Given the description of an element on the screen output the (x, y) to click on. 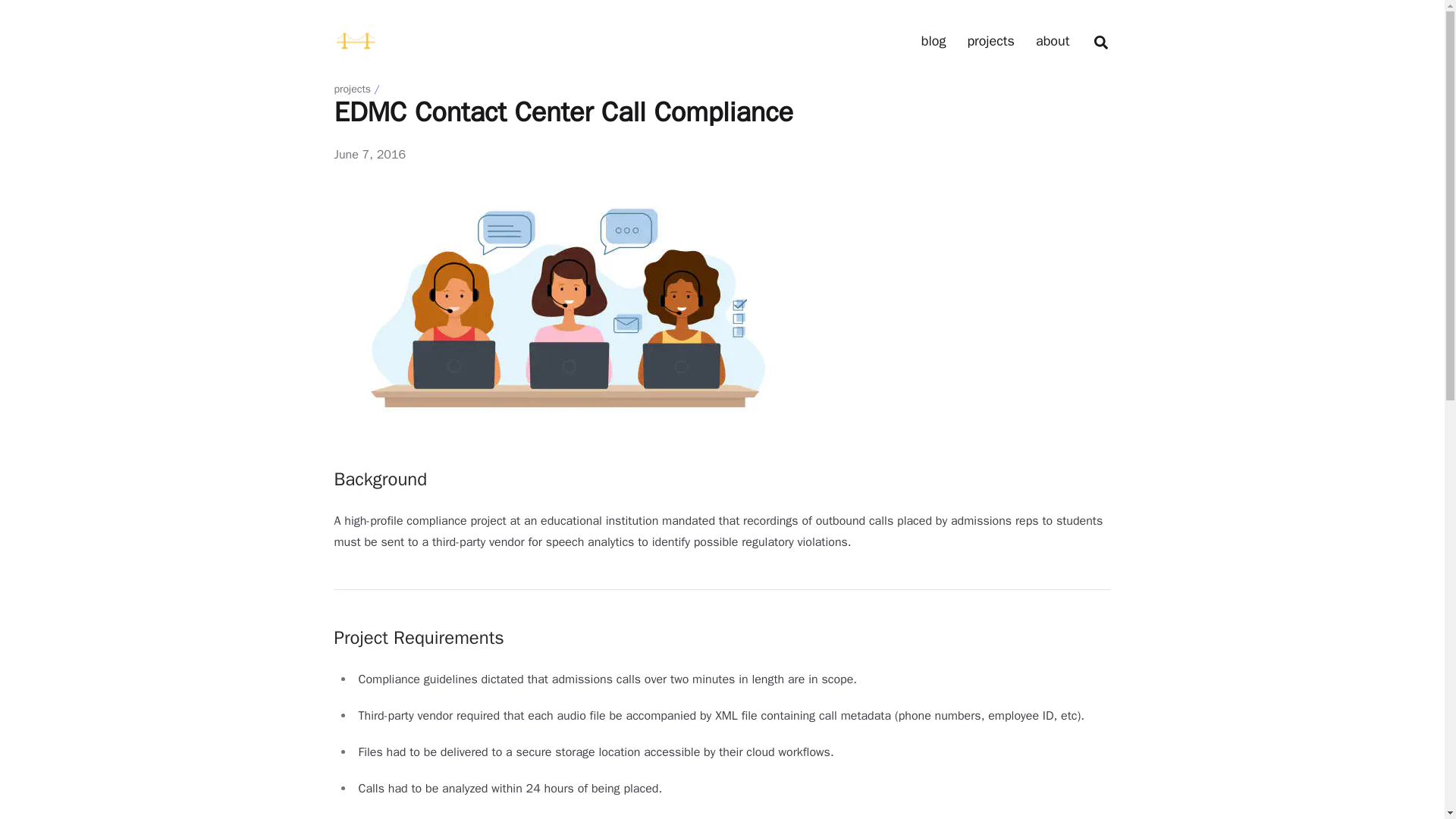
projects (352, 88)
blog (933, 40)
blog (933, 40)
